Given the description of an element on the screen output the (x, y) to click on. 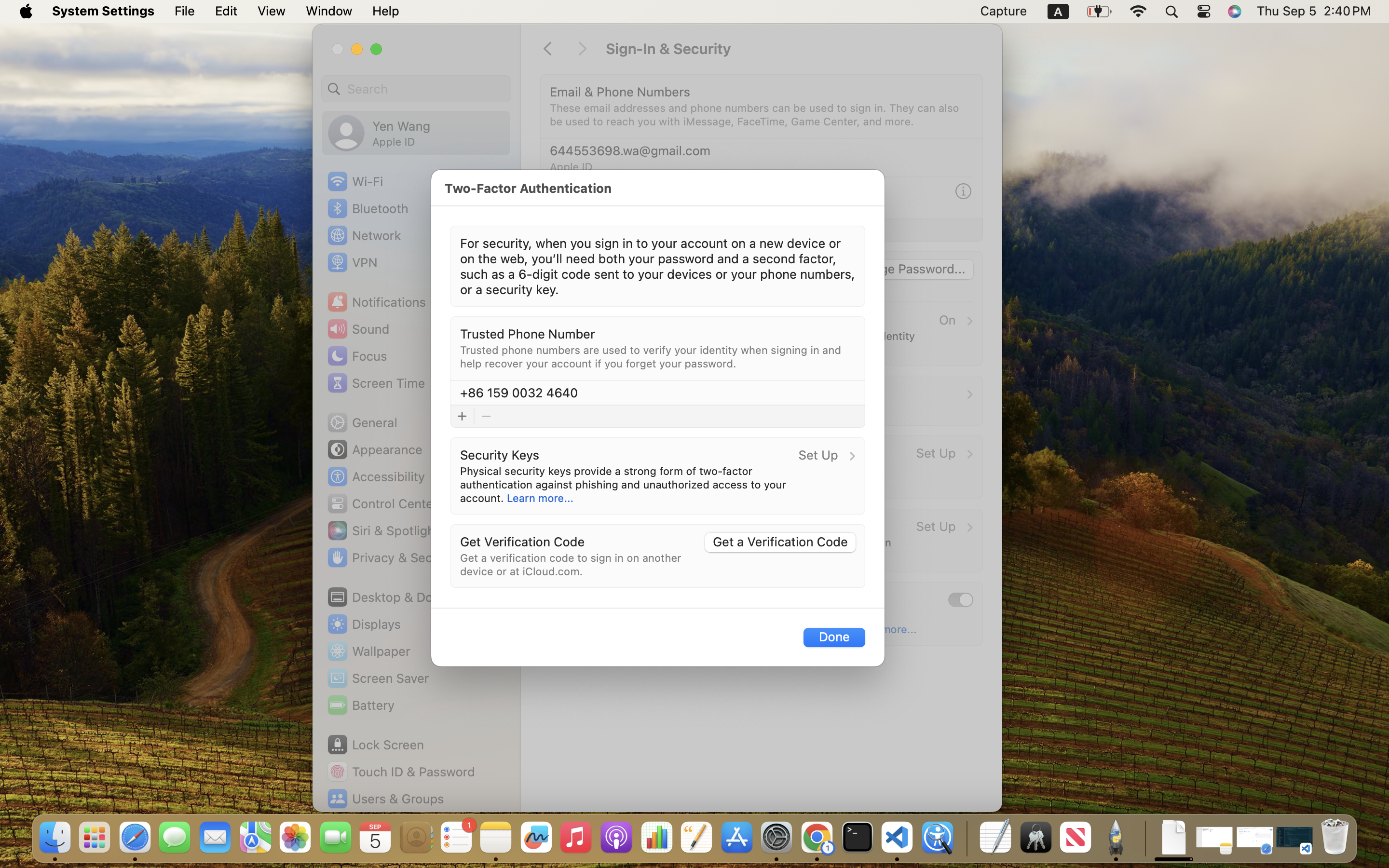
Password Element type: AXStaticText (577, 267)
Automatic Verification Element type: AXStaticText (613, 598)
Two‑Factor Authentication Element type: AXStaticText (527, 187)
+86 159 0032 4640 Element type: AXStaticText (608, 190)
Screen Saver Element type: AXStaticText (377, 677)
